Given the description of an element on the screen output the (x, y) to click on. 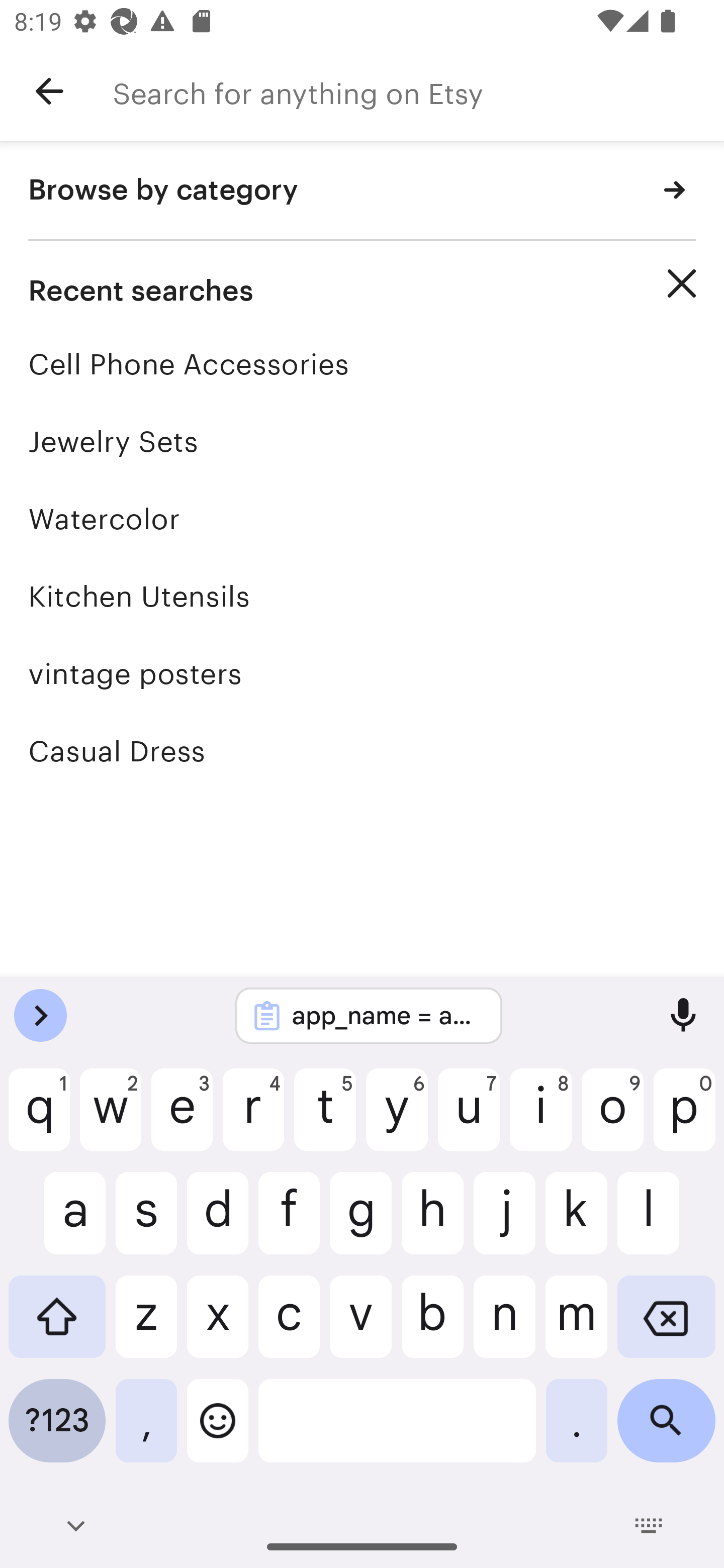
Navigate up (49, 91)
Search for anything on Etsy (418, 91)
Browse by category (362, 191)
Clear (681, 283)
Cell Phone Accessories (362, 364)
Jewelry Sets (362, 440)
Watercolor (362, 518)
Kitchen Utensils (362, 596)
vintage posters (362, 673)
Casual Dress (362, 750)
